Given the description of an element on the screen output the (x, y) to click on. 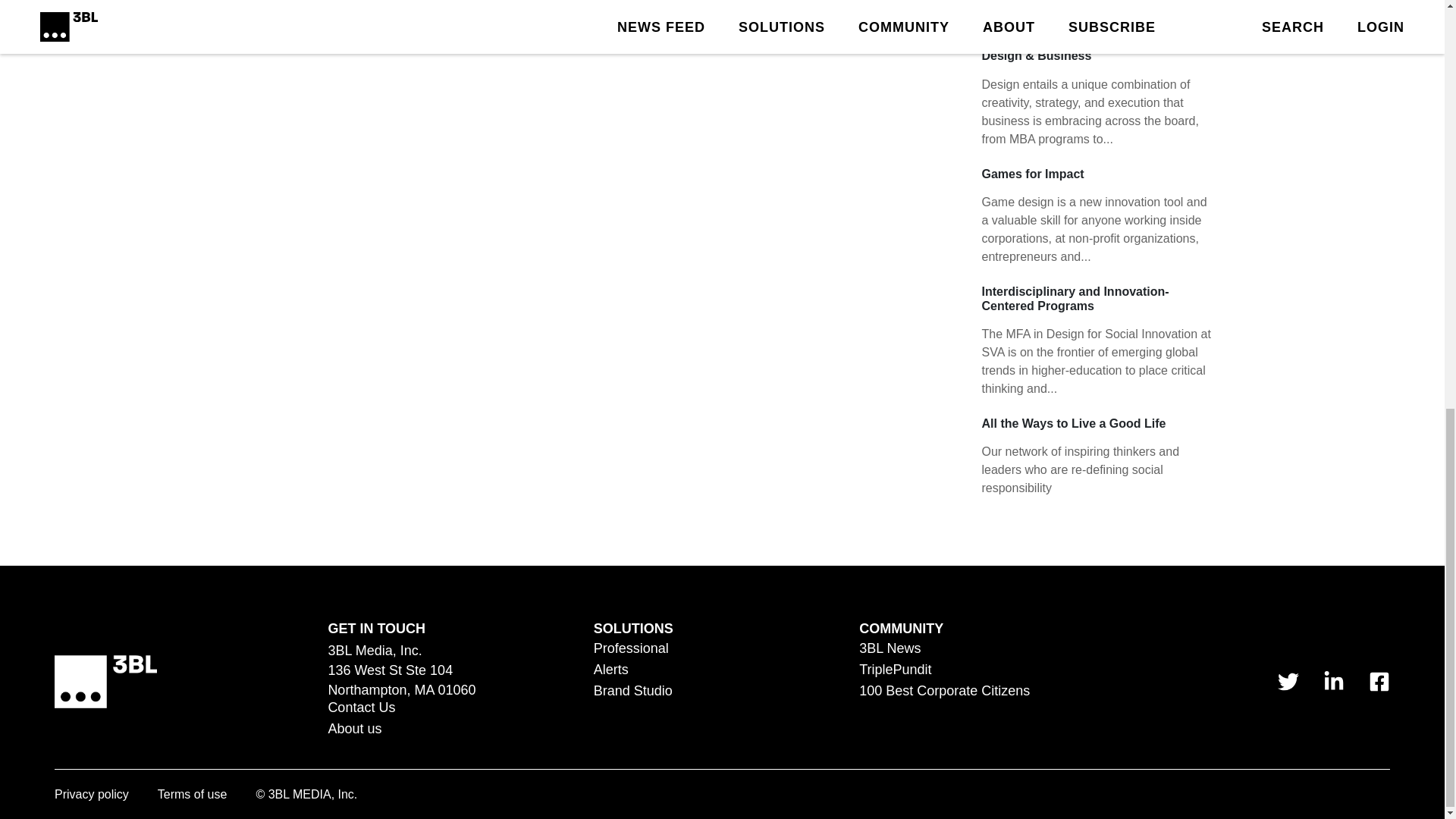
link to 3 B L Media's Linkedin (1333, 681)
link to 3 B L Media's Facebook (1379, 681)
link to 3 B L Media's Twitter (1288, 681)
